Given the description of an element on the screen output the (x, y) to click on. 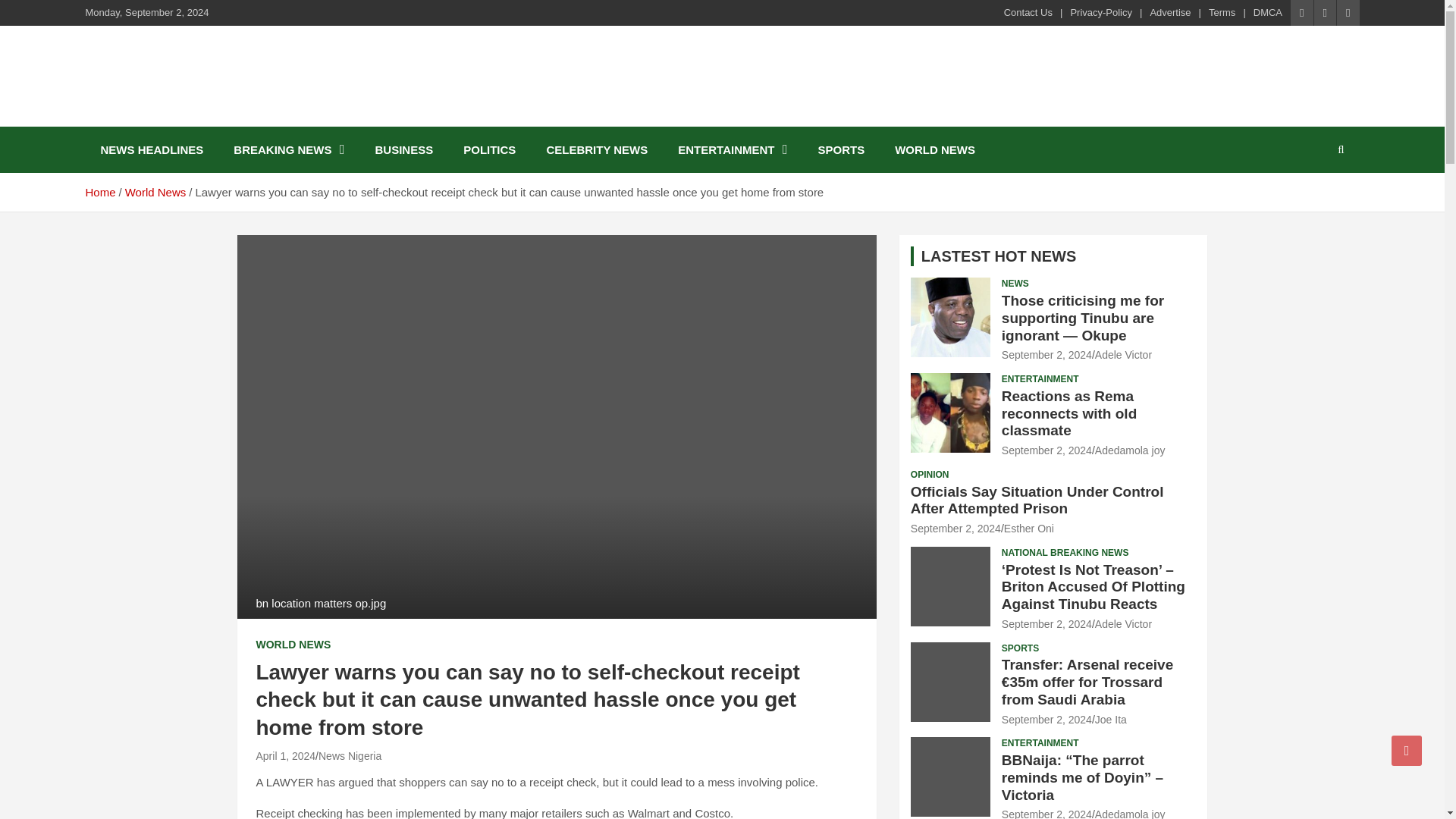
Privacy-Policy (1101, 12)
Terms (1221, 12)
WORLD NEWS (934, 149)
DMCA (1267, 12)
CELEBRITY NEWS (596, 149)
Advertise (1170, 12)
Officials Say Situation Under Control After Attempted Prison (956, 528)
Contact Us (1028, 12)
